Given the description of an element on the screen output the (x, y) to click on. 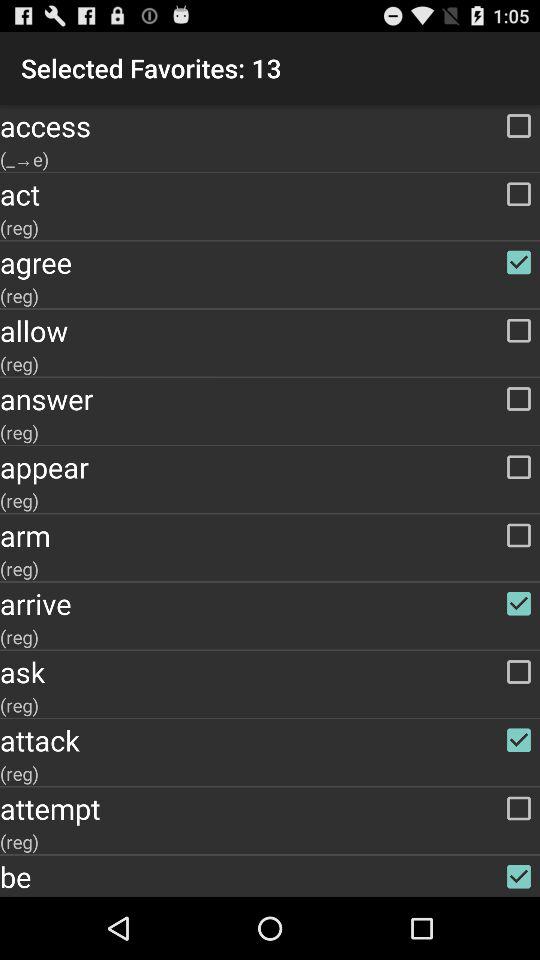
launch icon above the (reg)  icon (270, 399)
